Given the description of an element on the screen output the (x, y) to click on. 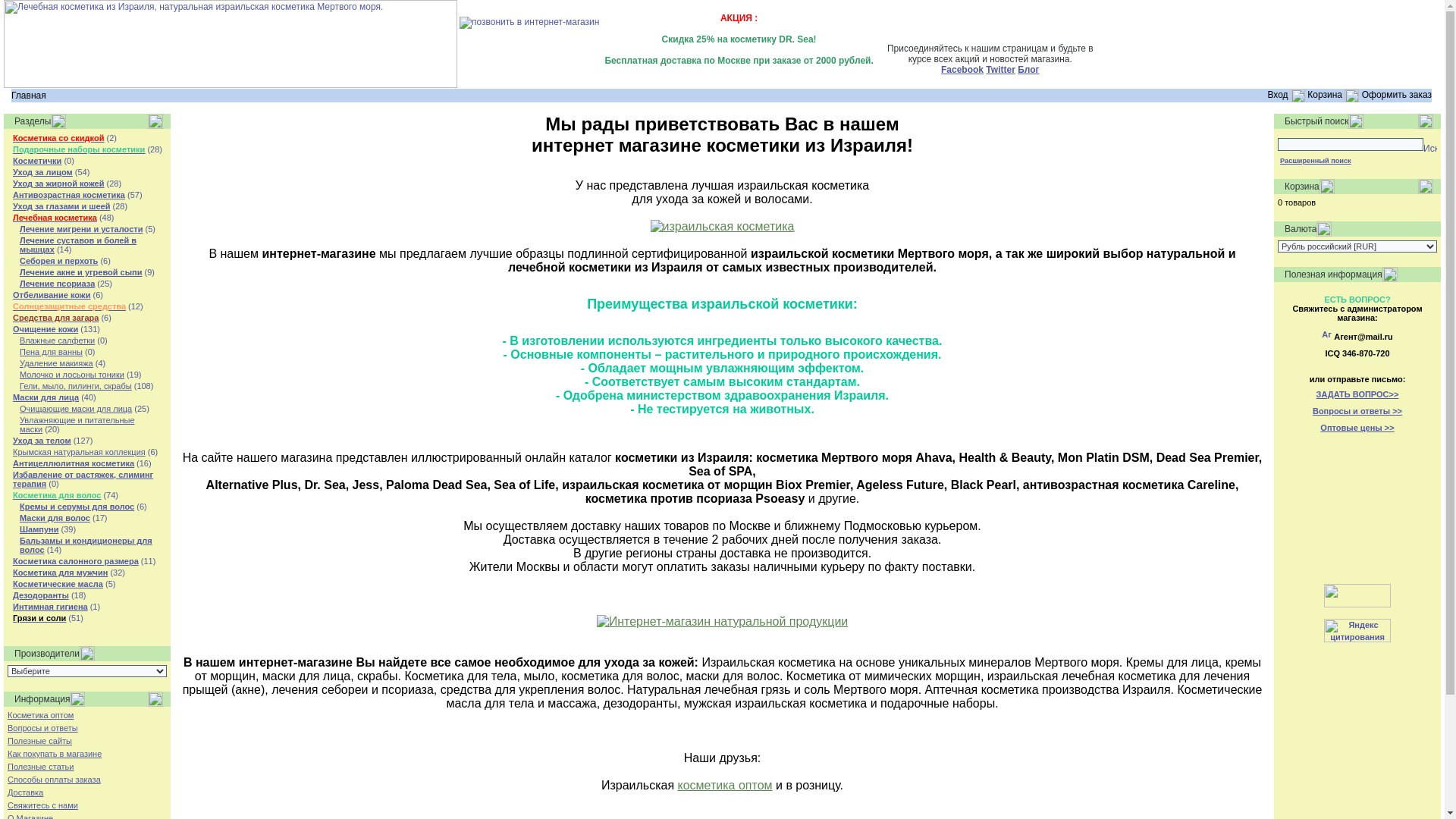
Twitter Element type: text (999, 69)
Facebook Element type: text (962, 69)
LiveInternet Element type: hover (1357, 595)
